Given the description of an element on the screen output the (x, y) to click on. 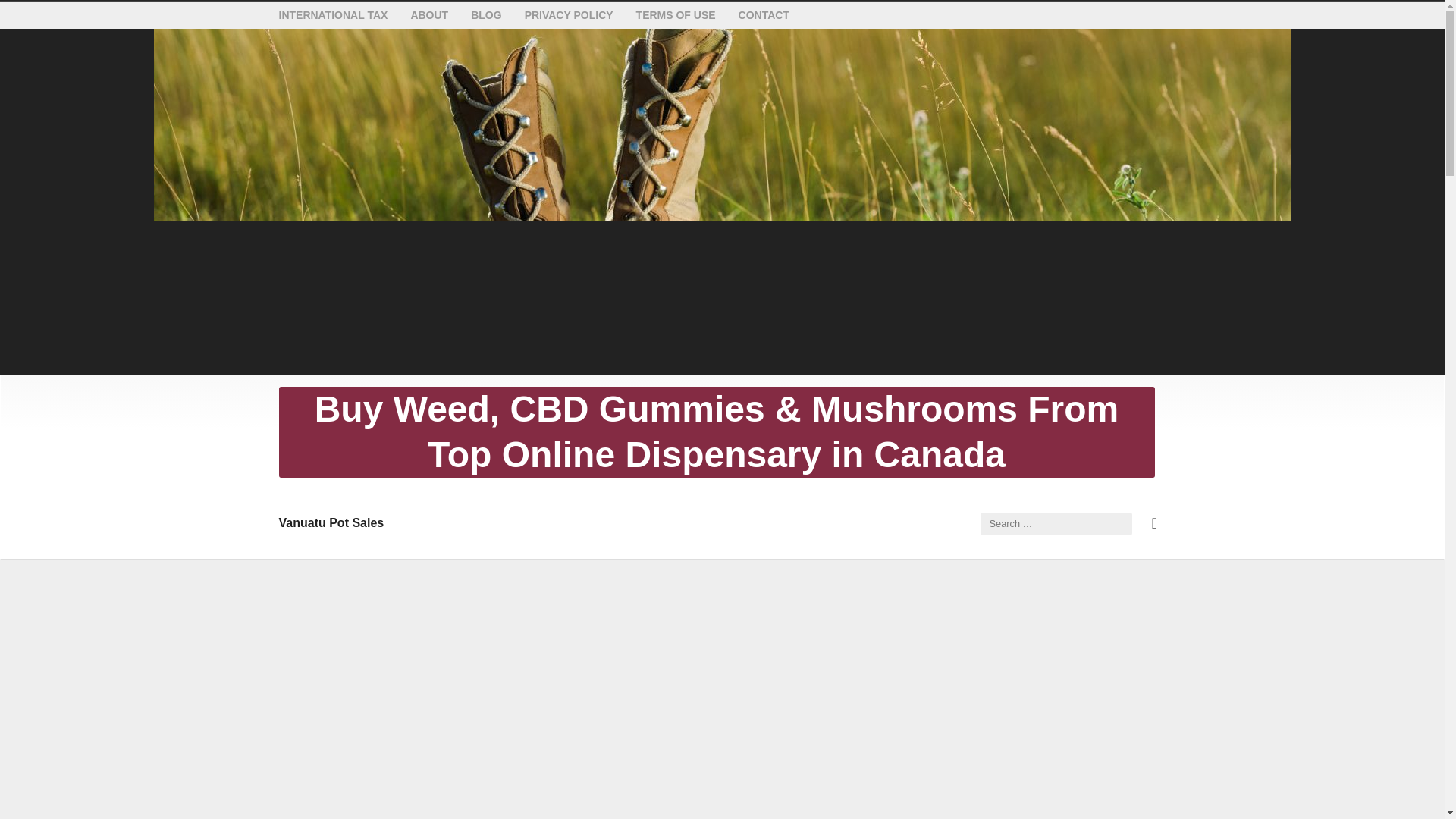
Search (37, 17)
ABOUT (429, 14)
PRIVACY POLICY (568, 14)
BLOG (485, 14)
Search (1118, 599)
TERMS OF USE (676, 14)
INTERNATIONAL TAX (333, 14)
RSS (1154, 522)
CONTACT (763, 14)
